Given the description of an element on the screen output the (x, y) to click on. 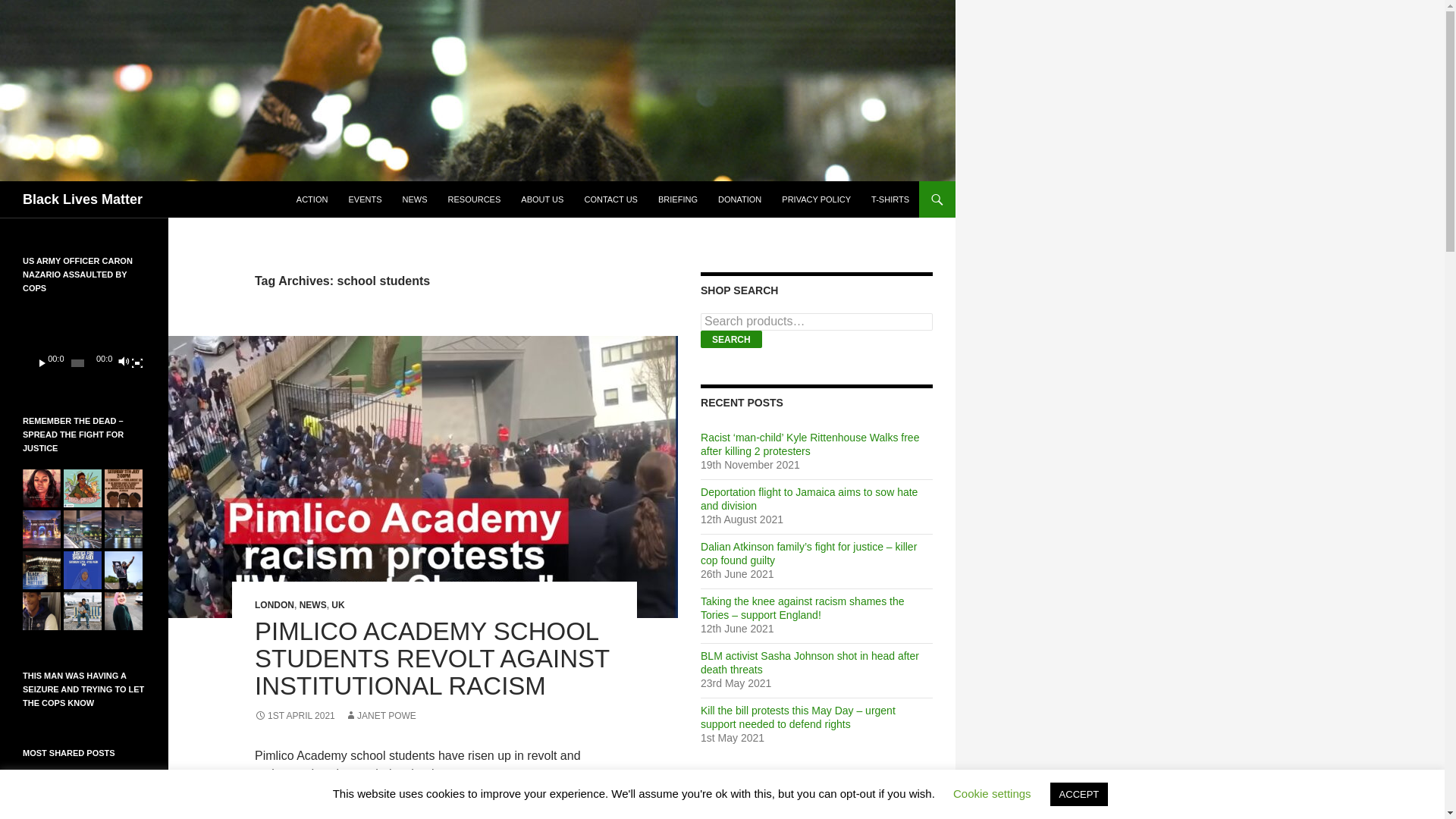
Black Lives Matter (82, 198)
ABOUT US (542, 198)
NEWS (312, 604)
LONDON (274, 604)
DONATION (739, 198)
Fullscreen (136, 363)
UK (337, 604)
1ST APRIL 2021 (294, 715)
Play (41, 363)
